Given the description of an element on the screen output the (x, y) to click on. 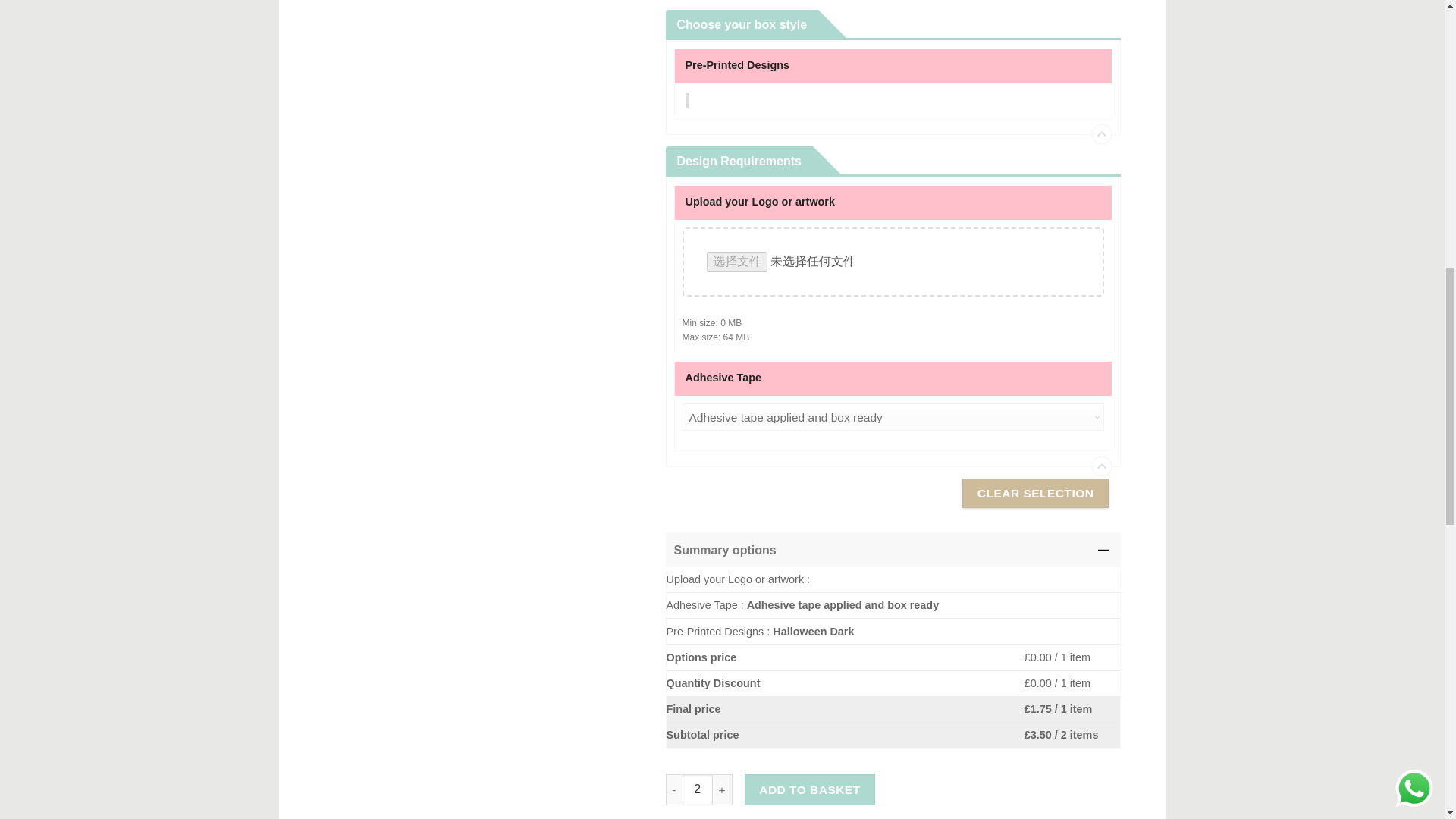
2 (697, 788)
